Given the description of an element on the screen output the (x, y) to click on. 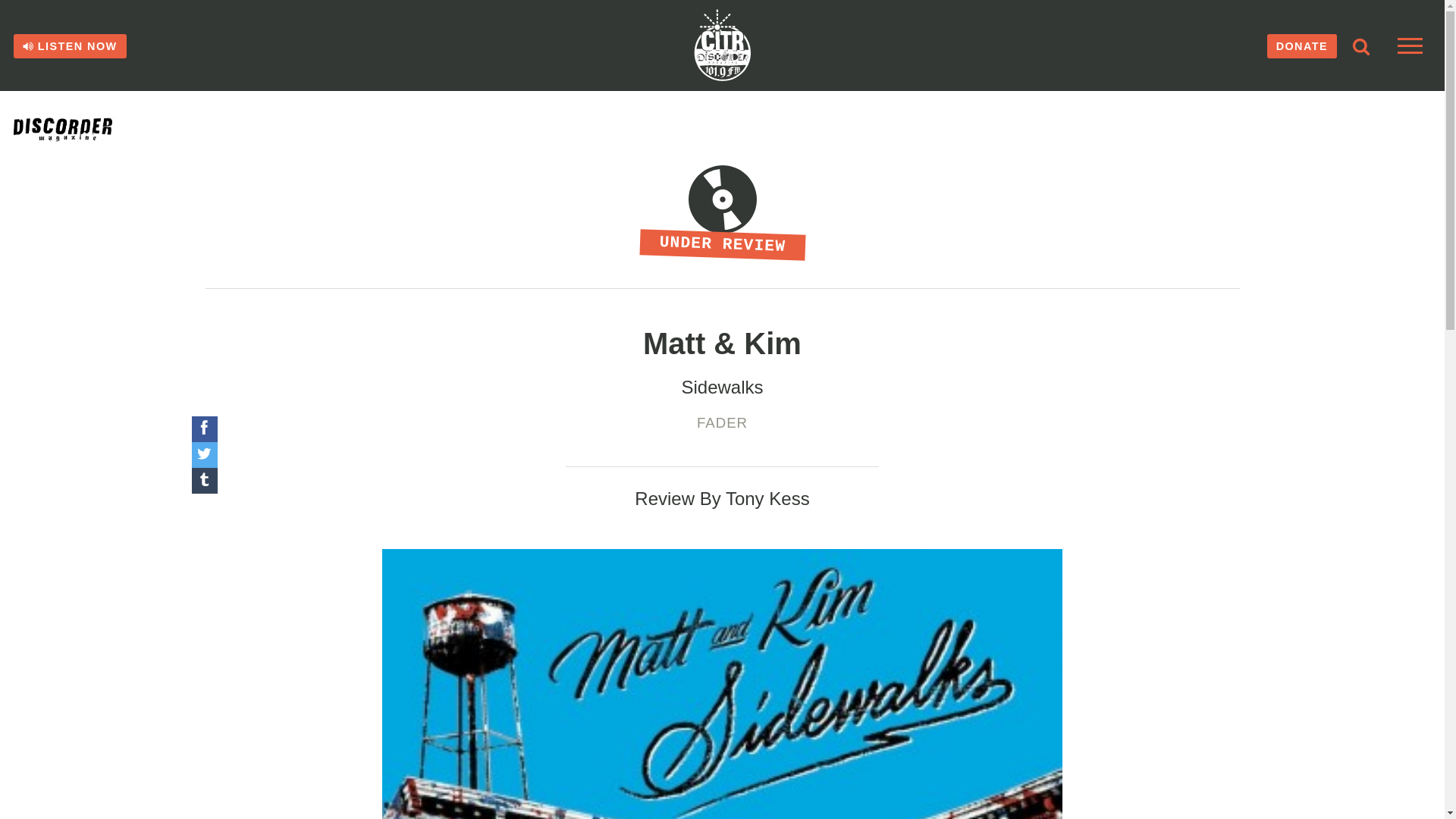
Toggle navigation (1410, 45)
LISTEN NOW (69, 46)
Share on Twitter (203, 454)
Discorder Magazine (81, 129)
Share on Tumblr (203, 480)
Share on Facebook (203, 429)
DONATE (1301, 46)
